Given the description of an element on the screen output the (x, y) to click on. 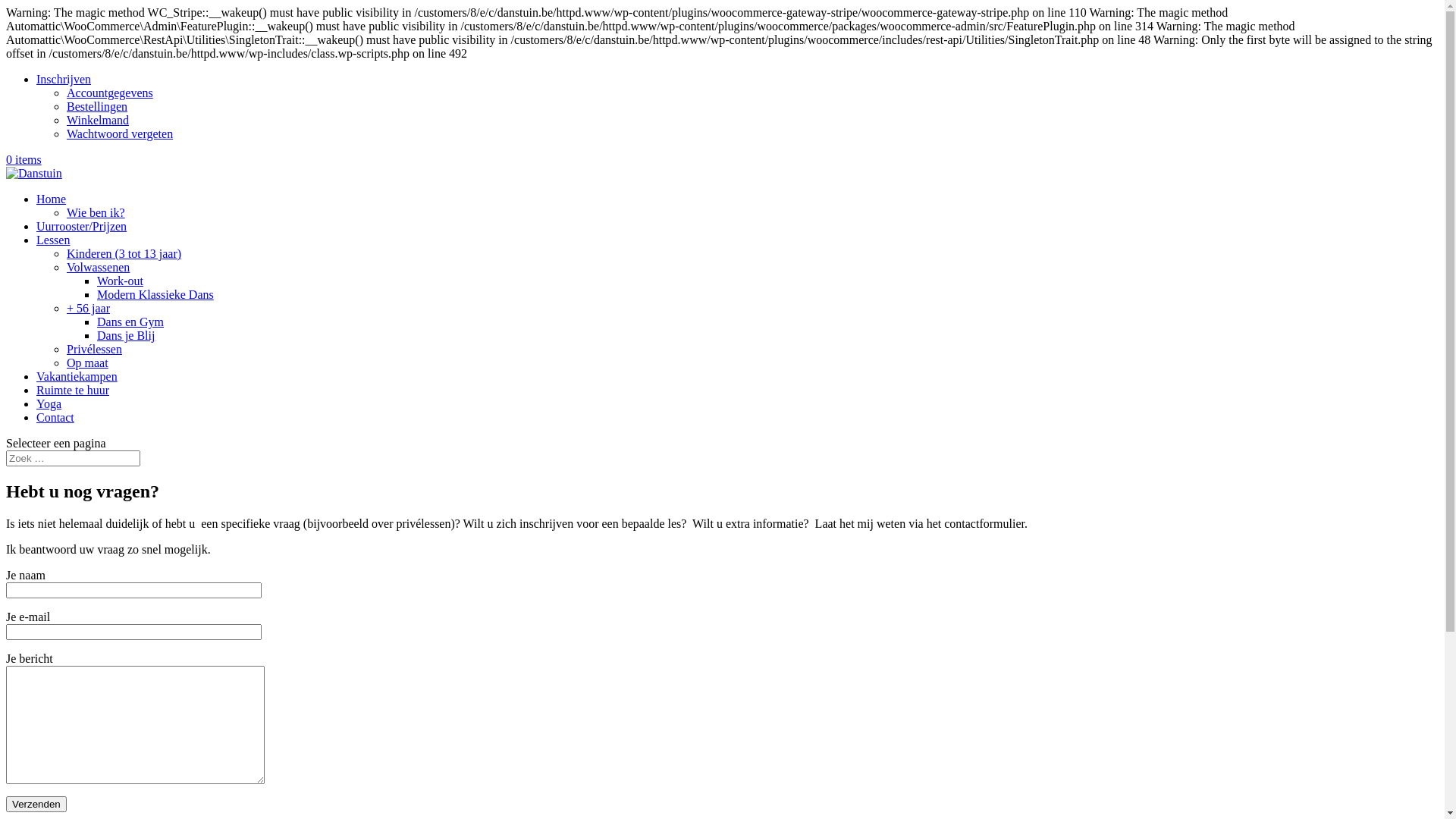
Lessen Element type: text (52, 239)
Zoek naar: Element type: hover (73, 458)
Yoga Element type: text (48, 403)
Home Element type: text (50, 198)
Bestellingen Element type: text (96, 106)
0 items Element type: text (23, 159)
Kinderen (3 tot 13 jaar) Element type: text (123, 253)
Op maat Element type: text (87, 362)
Contact Element type: text (55, 417)
Dans en Gym Element type: text (130, 321)
+ 56 jaar Element type: text (87, 307)
Inschrijven Element type: text (63, 78)
Accountgegevens Element type: text (109, 92)
Winkelmand Element type: text (97, 119)
Modern Klassieke Dans Element type: text (155, 294)
Uurrooster/Prijzen Element type: text (81, 225)
Work-out Element type: text (120, 280)
Wachtwoord vergeten Element type: text (119, 133)
Volwassenen Element type: text (97, 266)
Dans je Blij Element type: text (125, 335)
Ruimte te huur Element type: text (72, 389)
Vakantiekampen Element type: text (76, 376)
Verzenden Element type: text (36, 804)
Wie ben ik? Element type: text (95, 212)
